Given the description of an element on the screen output the (x, y) to click on. 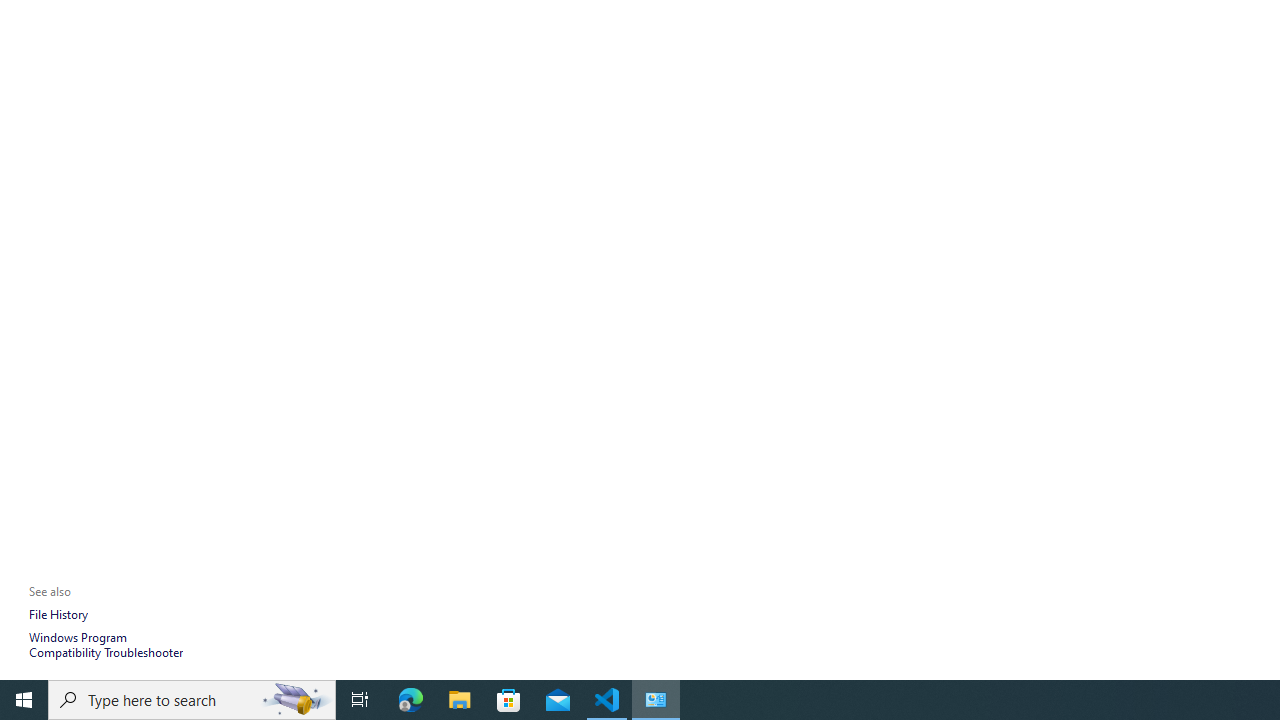
Control Panel - 1 running window (656, 699)
Windows Program Compatibility Troubleshooter (105, 645)
File History (57, 614)
